Given the description of an element on the screen output the (x, y) to click on. 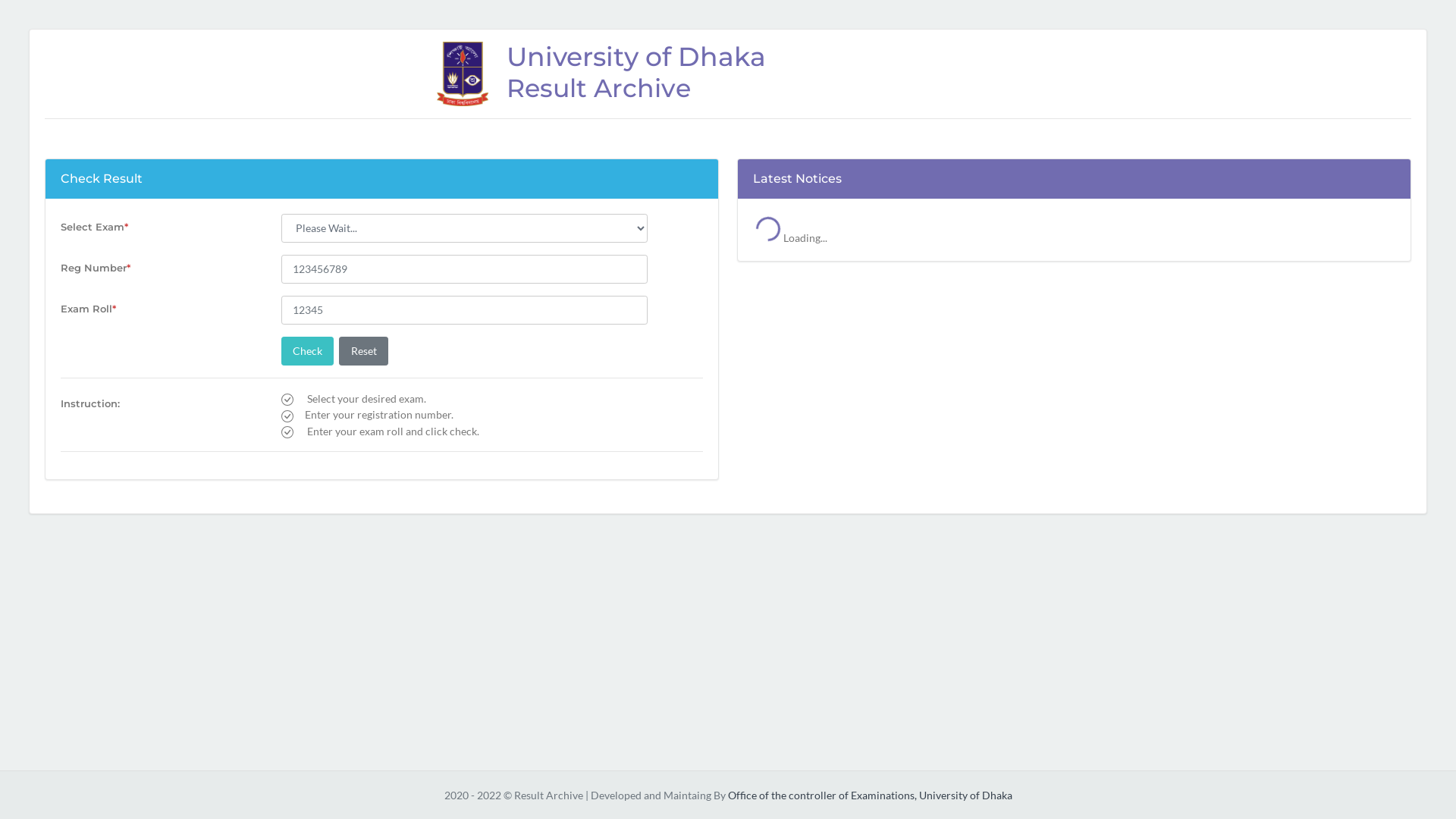
Check Element type: text (307, 350)
University of Dhaka
Result Archive Element type: text (727, 73)
Reset Element type: text (363, 350)
